Given the description of an element on the screen output the (x, y) to click on. 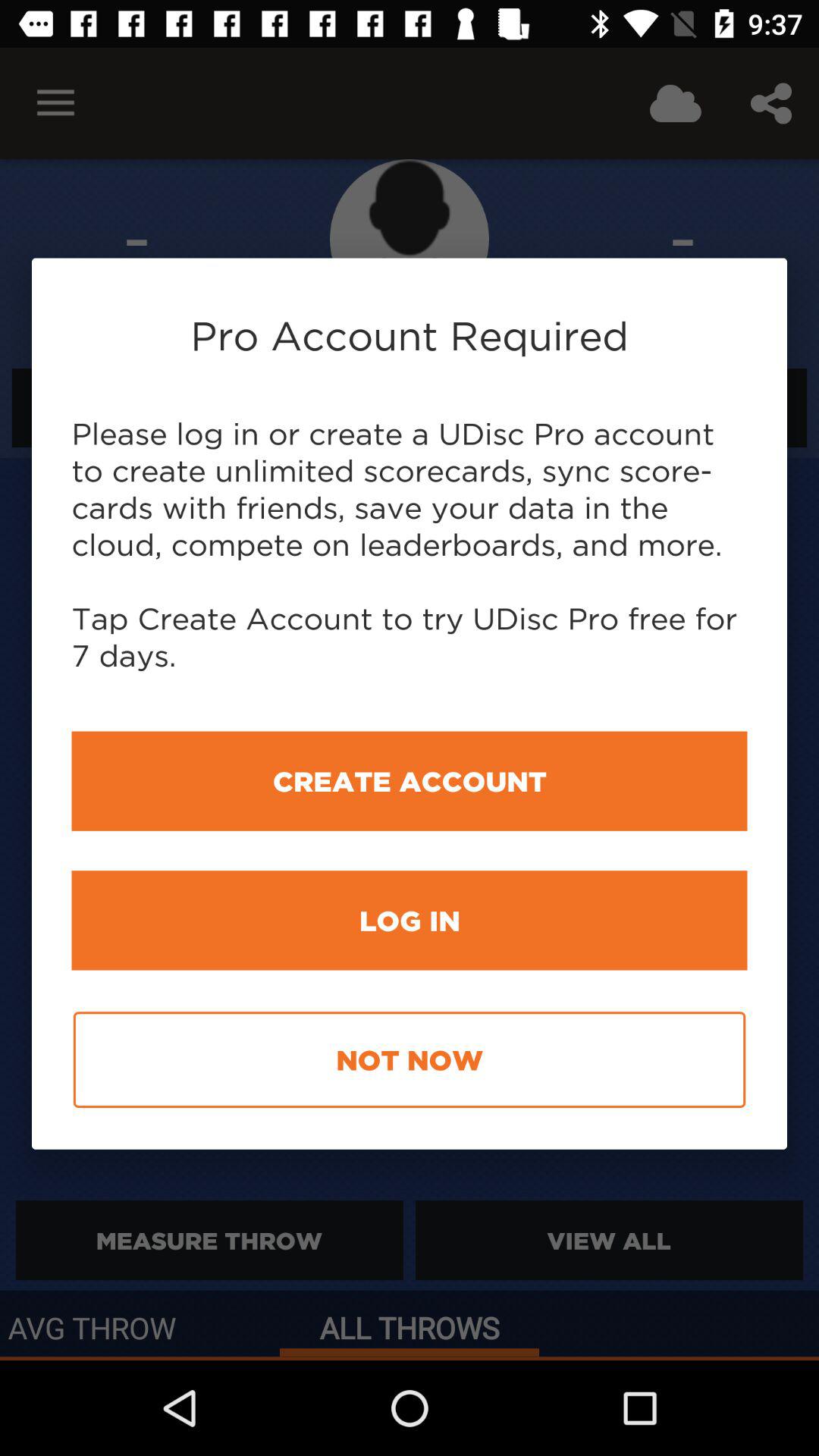
scroll until not now item (409, 1059)
